Given the description of an element on the screen output the (x, y) to click on. 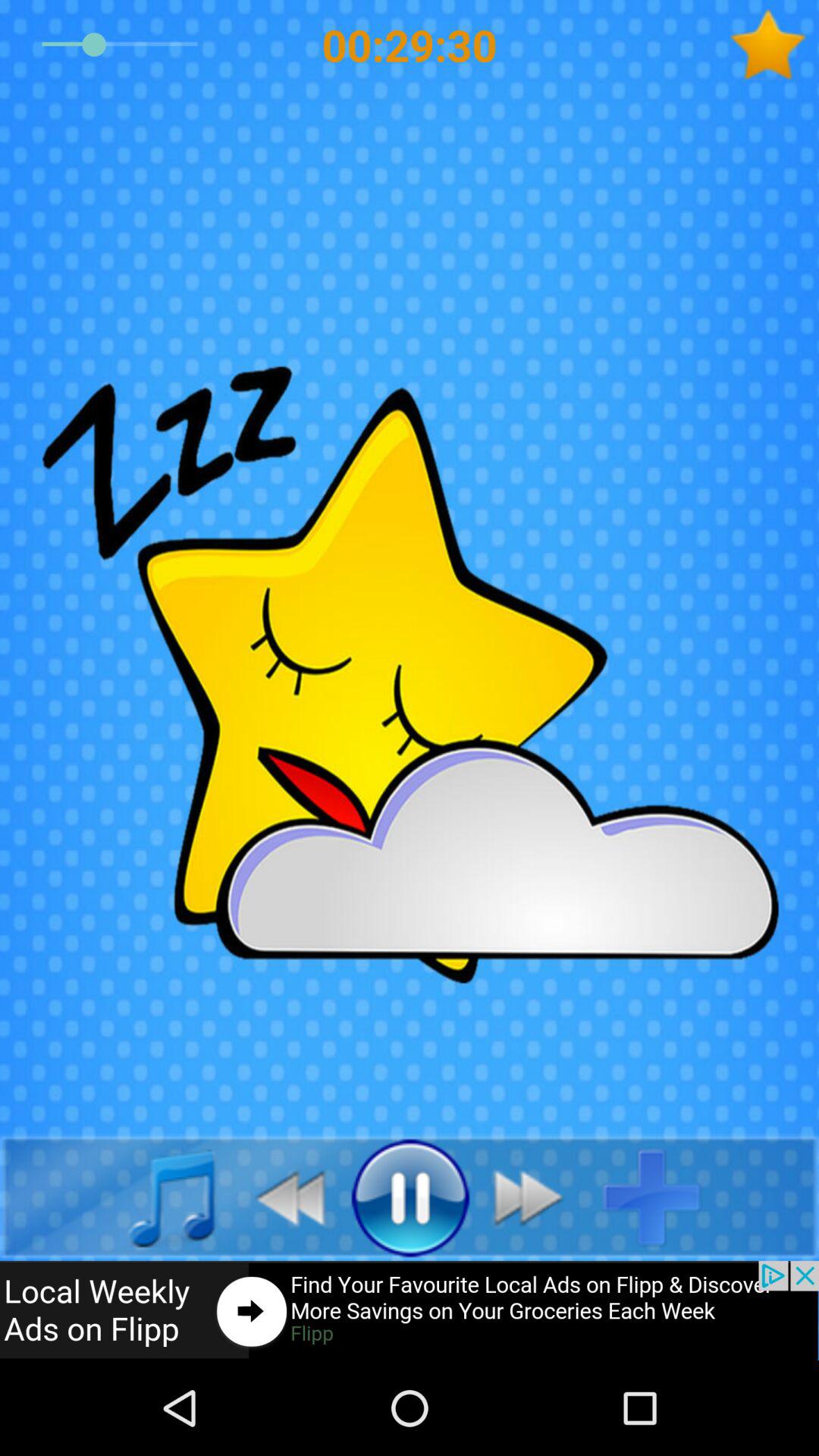
see more of this advertisement (409, 1310)
